Given the description of an element on the screen output the (x, y) to click on. 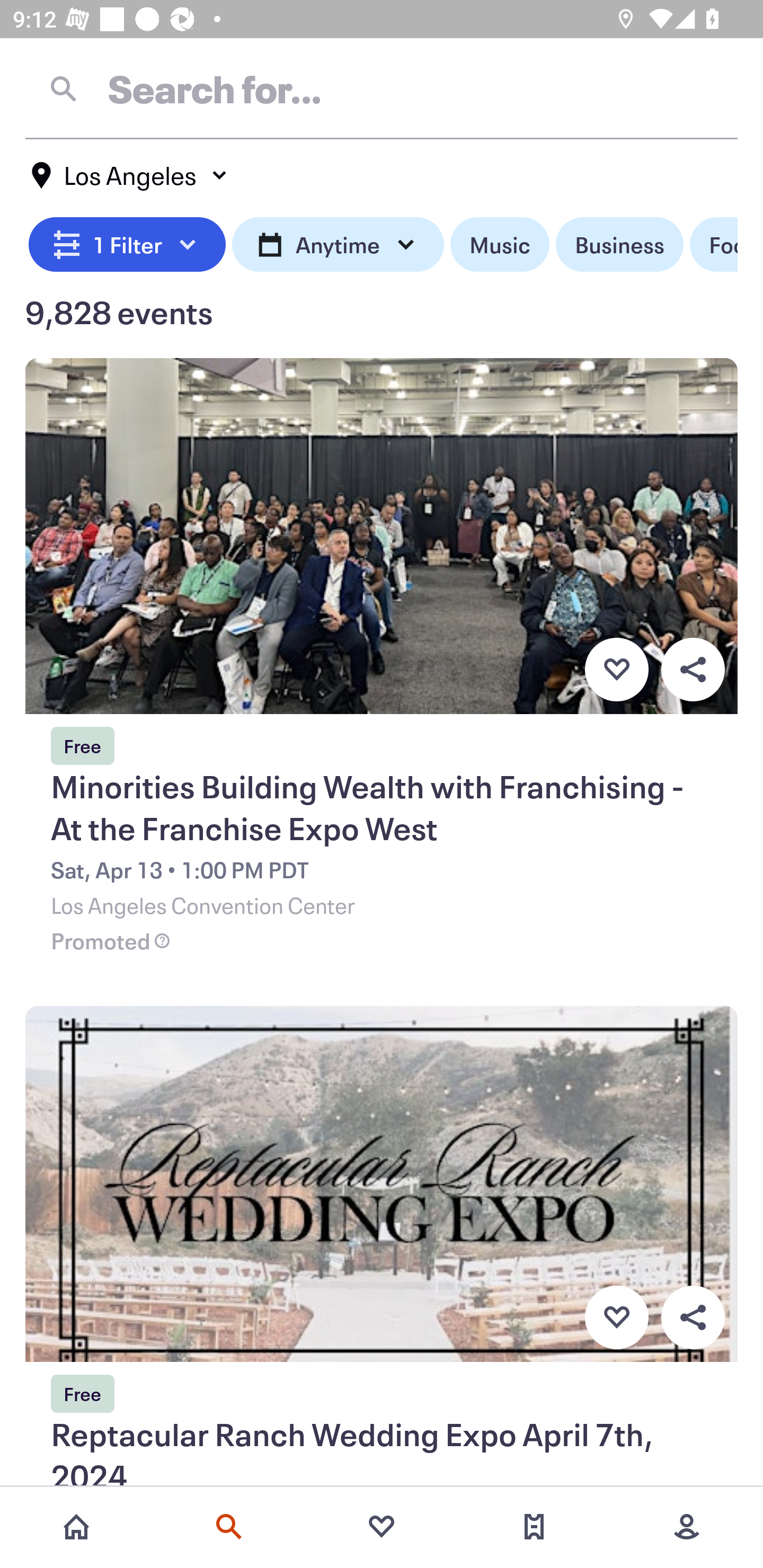
Search for… (381, 88)
Los Angeles (130, 175)
1 Filter (126, 244)
Anytime (337, 244)
Music (499, 244)
Business (619, 244)
Favorite button (616, 669)
Overflow menu button (692, 669)
Favorite button (616, 1317)
Overflow menu button (692, 1317)
Home (76, 1526)
Search events (228, 1526)
Favorites (381, 1526)
Tickets (533, 1526)
More (686, 1526)
